Given the description of an element on the screen output the (x, y) to click on. 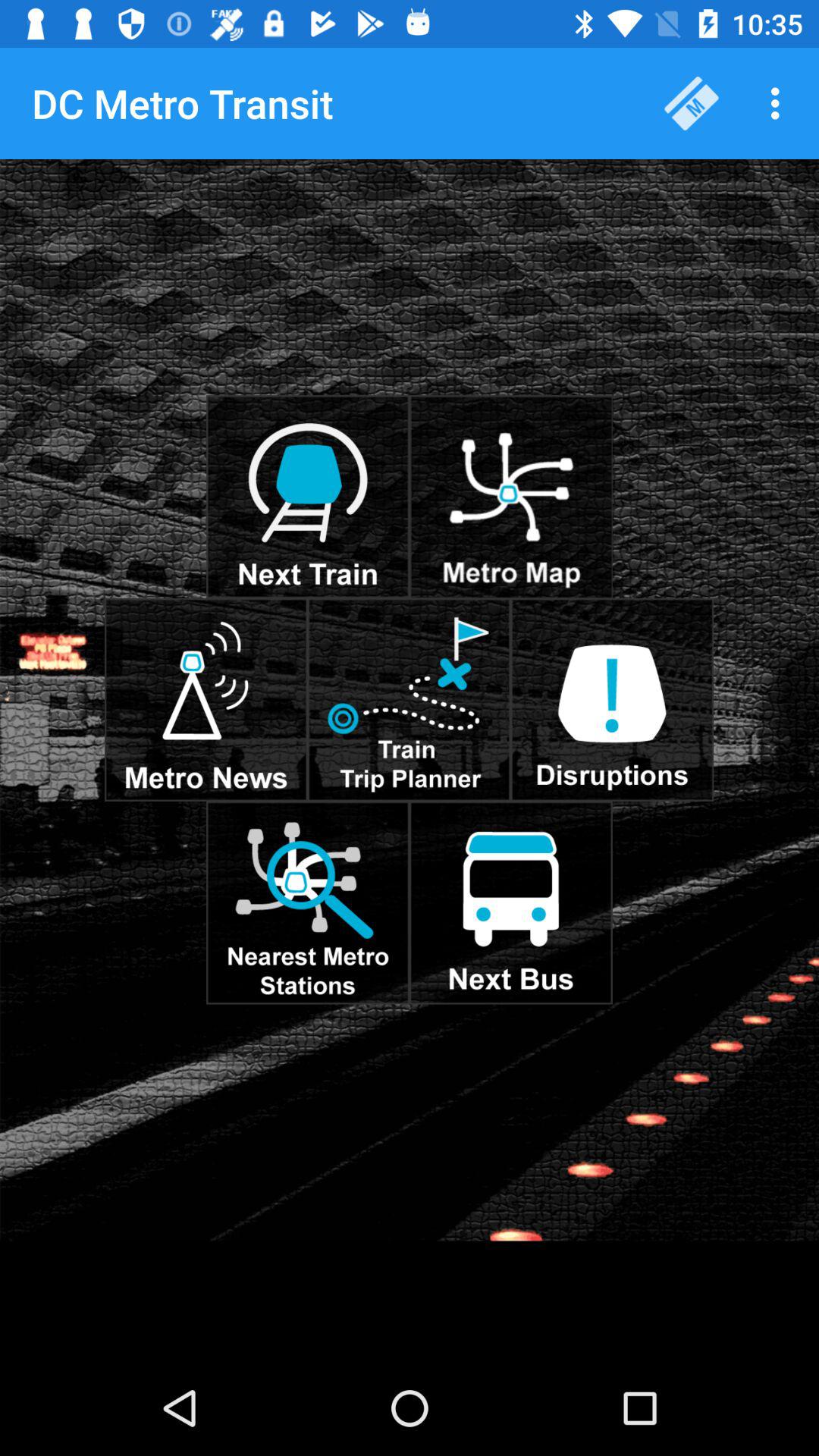
open metro map (510, 496)
